Given the description of an element on the screen output the (x, y) to click on. 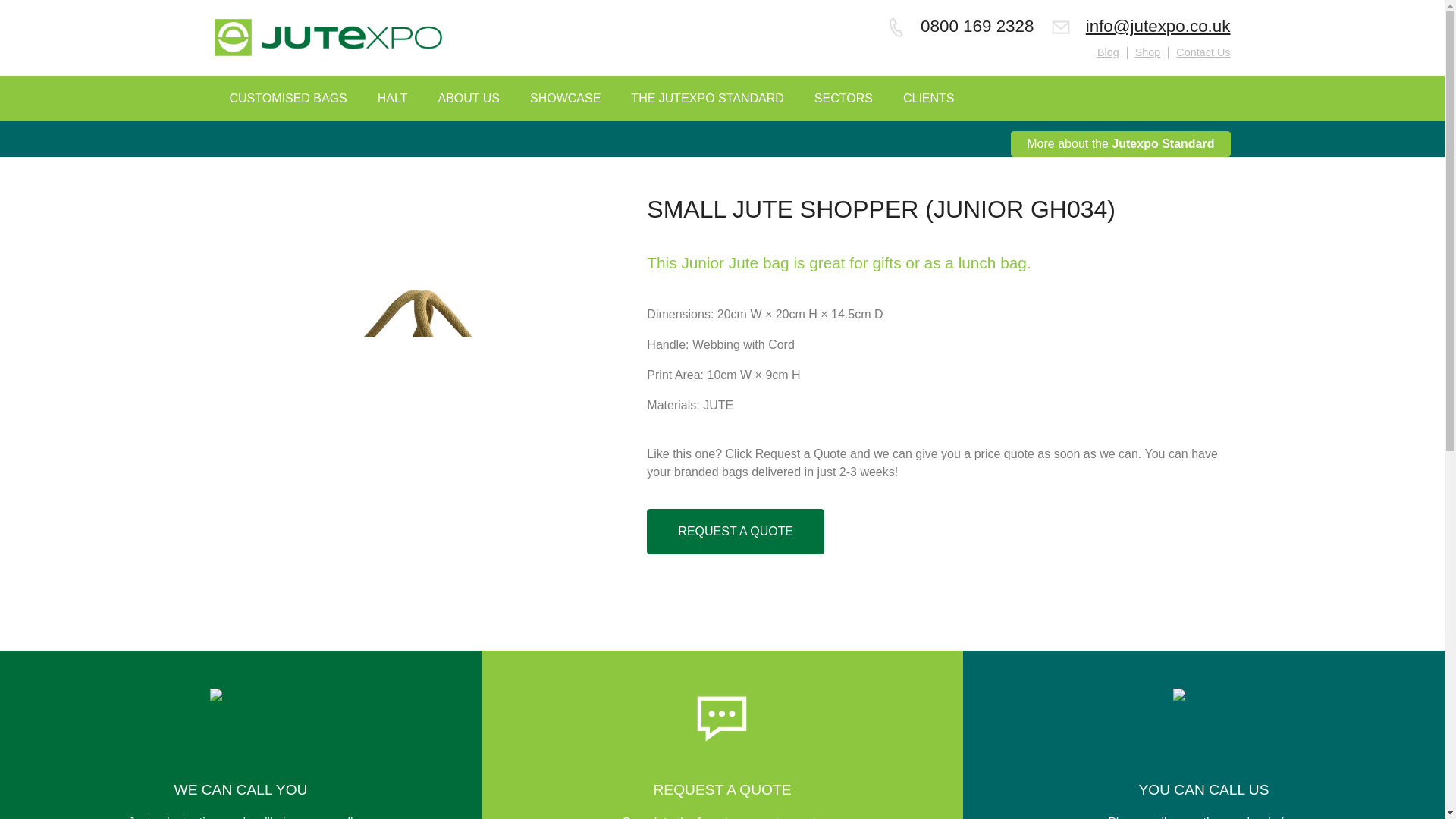
Blog (1108, 51)
SECTORS (843, 98)
Jutexpo (327, 37)
SHOWCASE (565, 98)
Shop (1147, 51)
Back to Jutexpo home page (327, 37)
Contact Us (1203, 51)
THE JUTEXPO STANDARD (707, 98)
HALT (392, 98)
CUSTOMISED BAGS (287, 98)
